Given the description of an element on the screen output the (x, y) to click on. 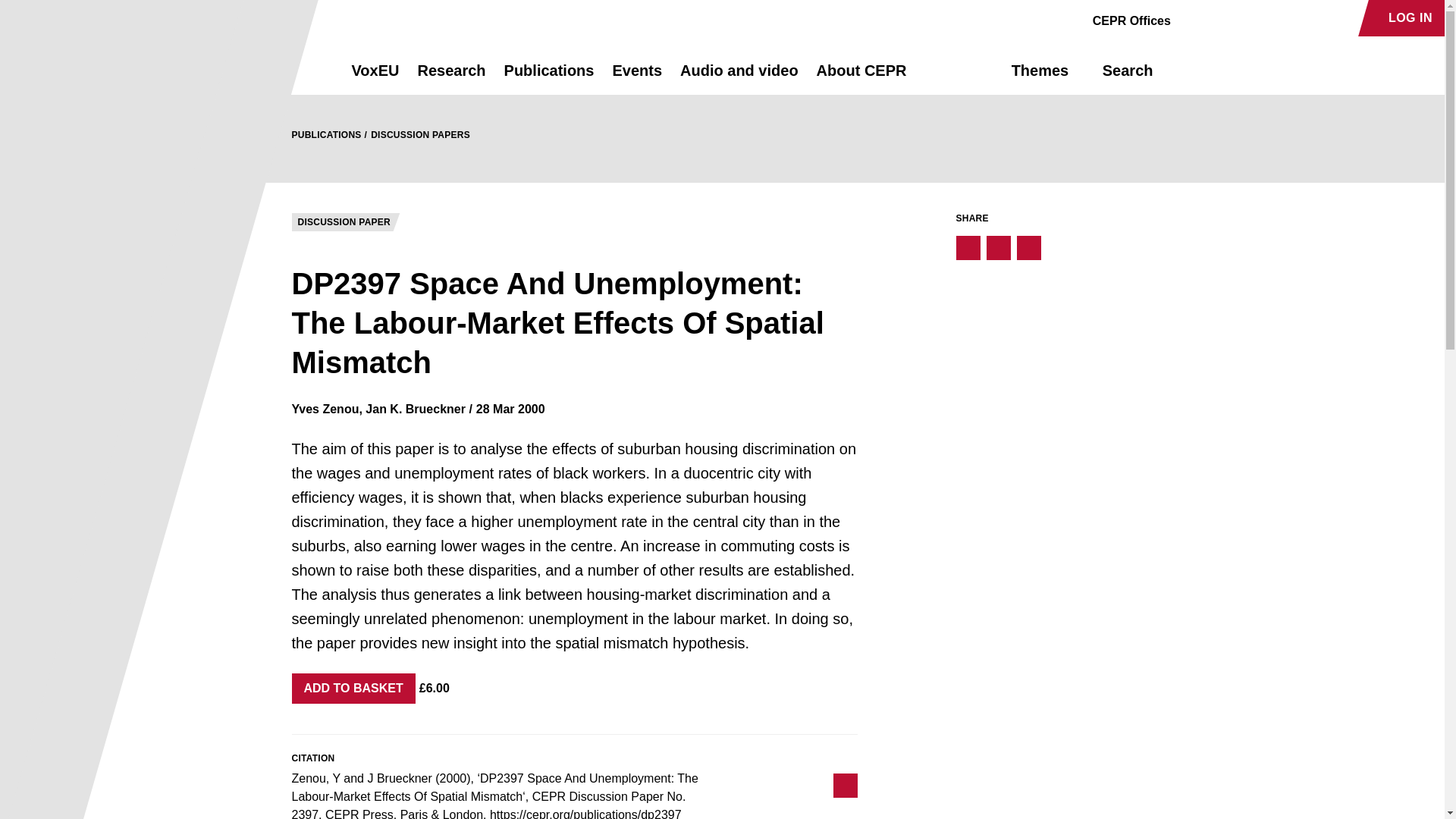
Return to the homepage (293, 69)
Add to basket (352, 688)
Go to Linkedin profile (1243, 18)
Audio and video (738, 77)
Research (450, 77)
Go to Audioboom profile (1217, 17)
Publications (548, 77)
VoxEU (375, 77)
Go to Facebook profile (1190, 17)
